Given the description of an element on the screen output the (x, y) to click on. 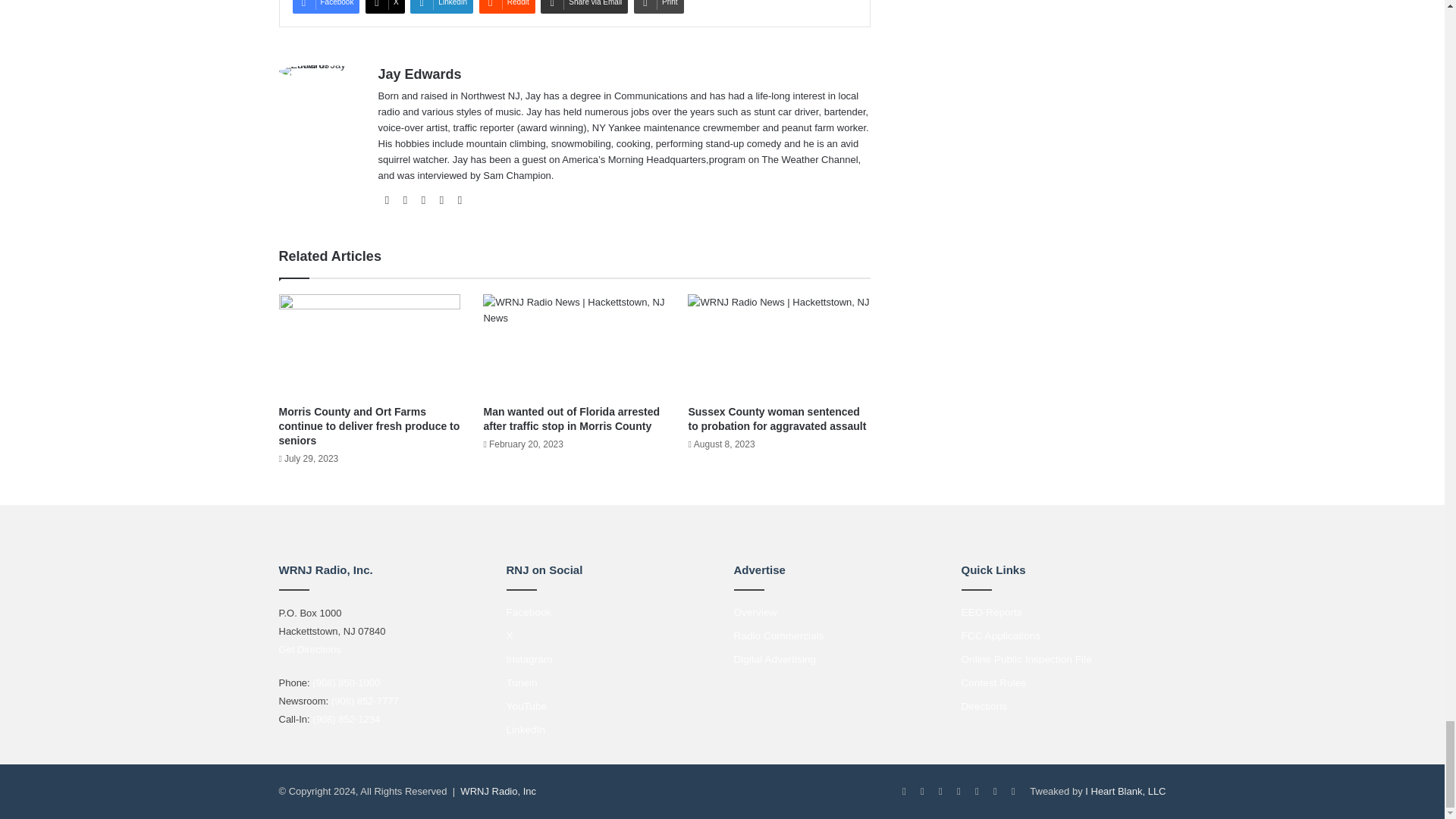
Facebook (325, 6)
X (384, 6)
LinkedIn (441, 6)
Share via Email (583, 6)
Print (658, 6)
Reddit (507, 6)
